Given the description of an element on the screen output the (x, y) to click on. 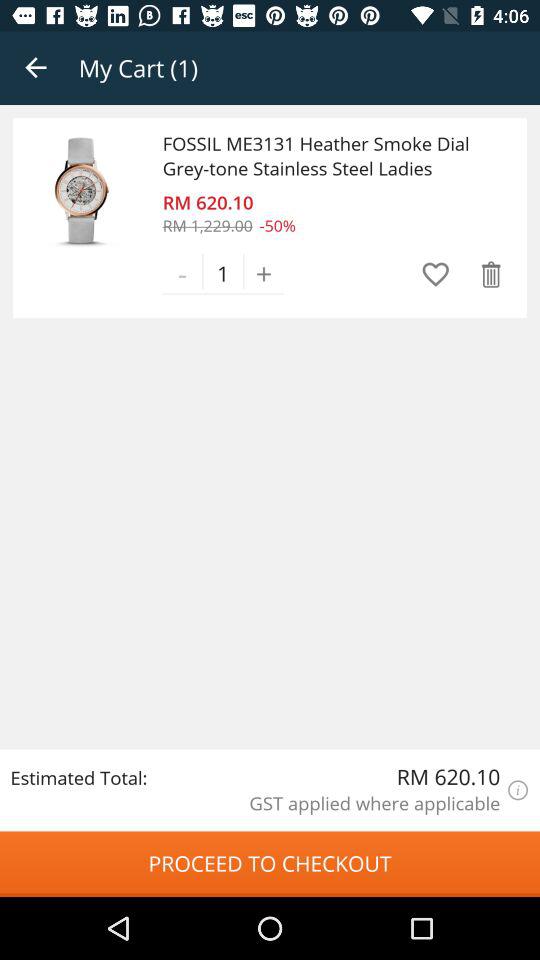
press the + item (263, 273)
